Given the description of an element on the screen output the (x, y) to click on. 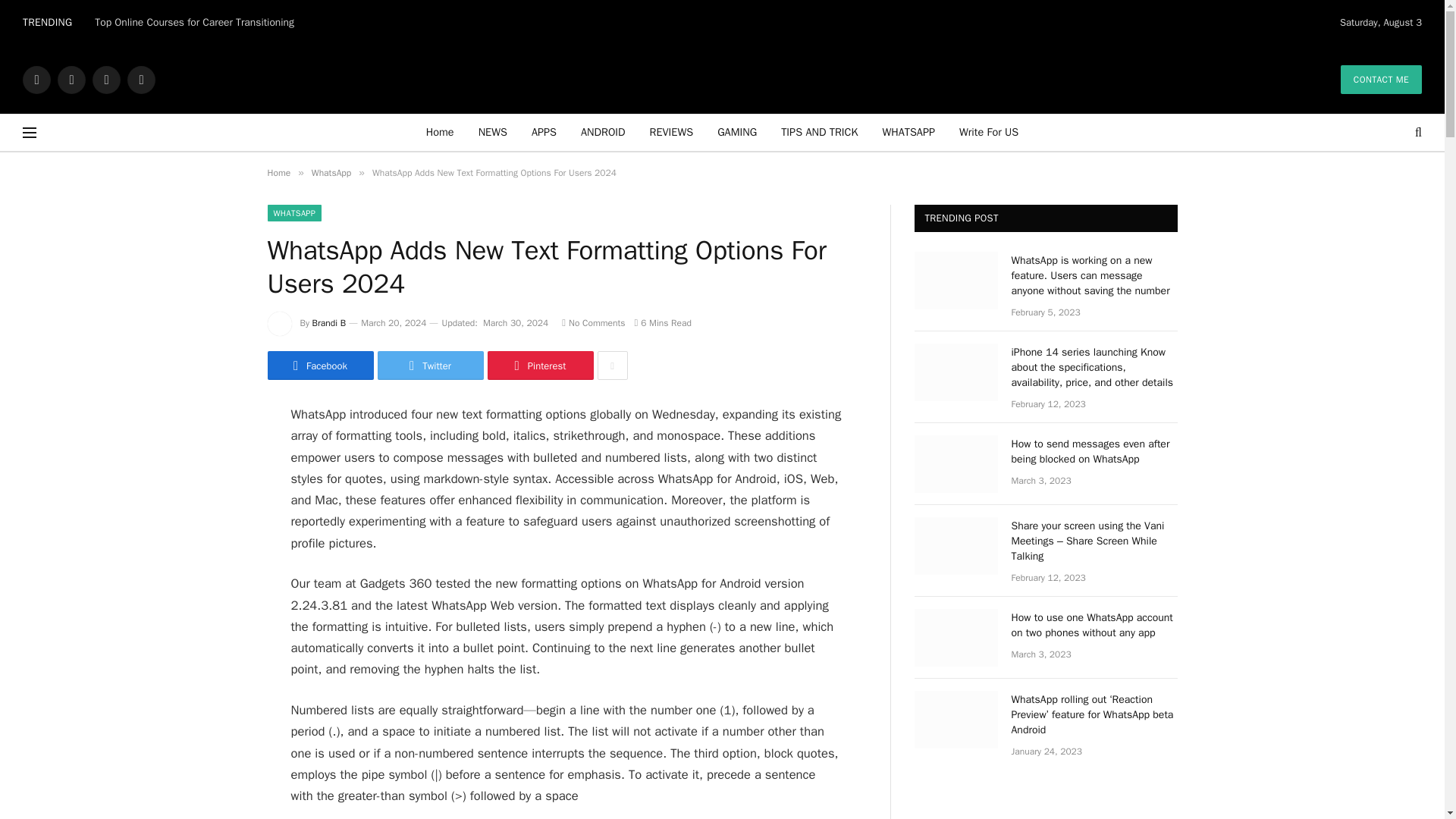
WHATSAPP (908, 132)
CONTACT ME (1381, 79)
REVIEWS (671, 132)
Write For US (988, 132)
TechNewzTOP (722, 79)
Posts by Brandi B (329, 322)
Share on Facebook (319, 365)
GAMING (736, 132)
Show More Social Sharing (611, 365)
ANDROID (603, 132)
WhatsApp (141, 79)
Instagram (106, 79)
TIPS AND TRICK (818, 132)
NEWS (492, 132)
APPS (544, 132)
